Given the description of an element on the screen output the (x, y) to click on. 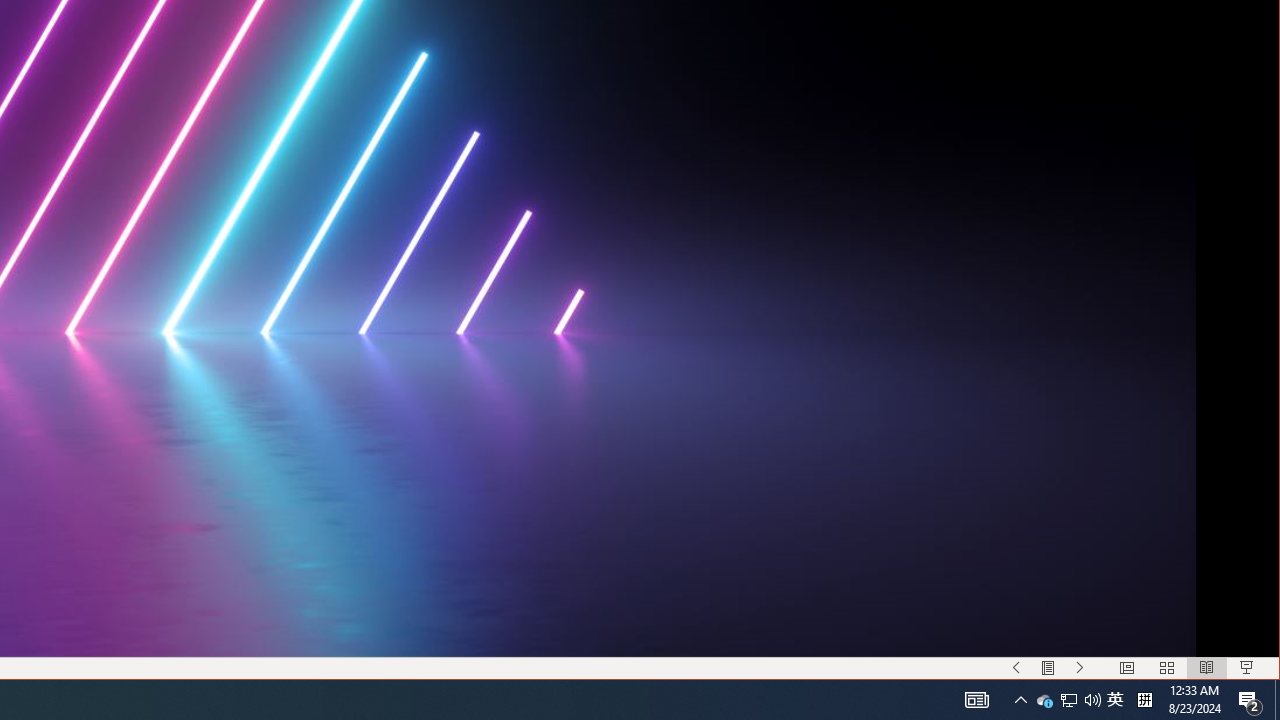
Slide Show Previous On (1016, 668)
Menu On (1048, 668)
